Given the description of an element on the screen output the (x, y) to click on. 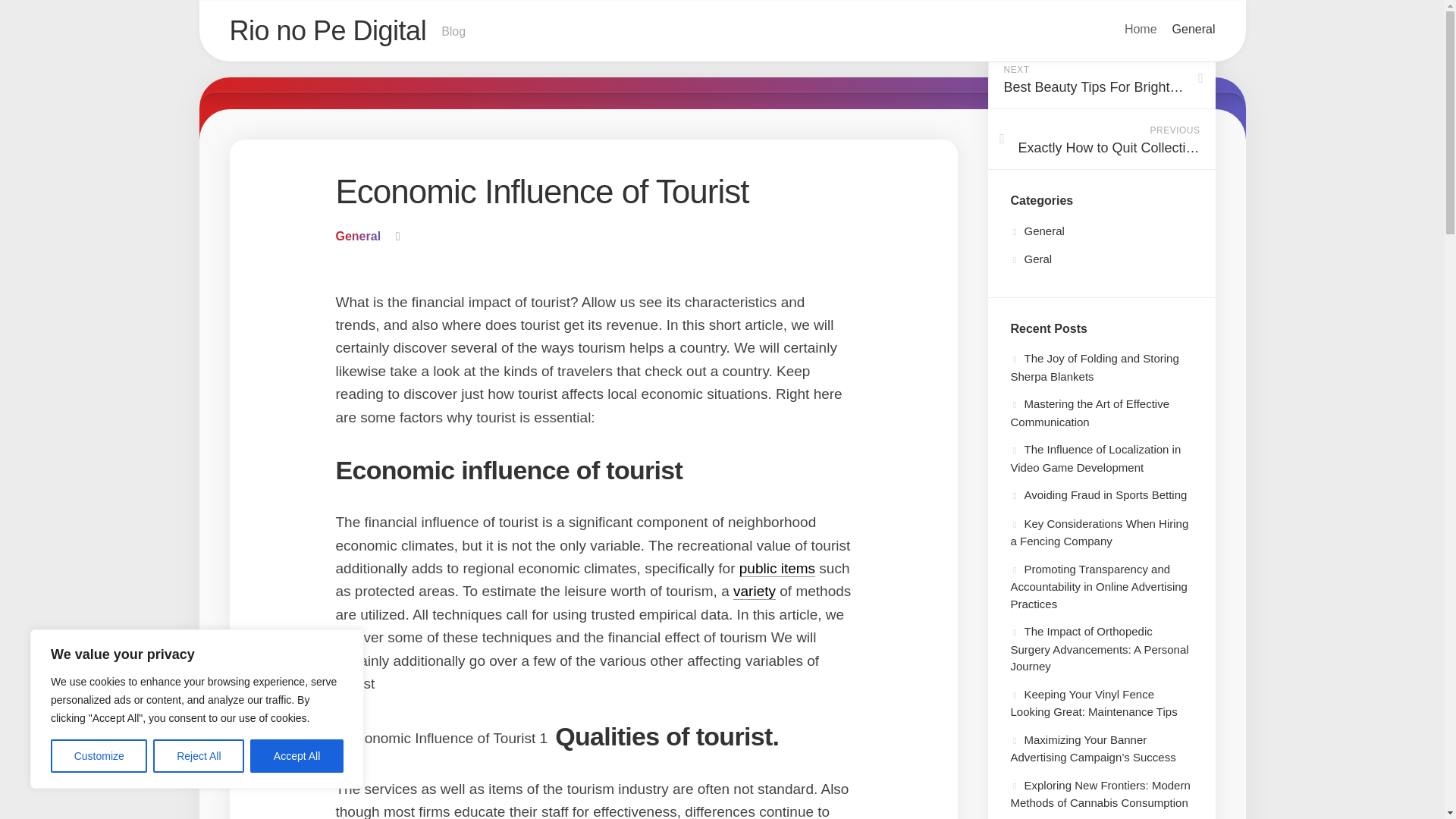
Rio no Pe Digital (327, 31)
General (1100, 138)
Geral (357, 236)
Home (1100, 78)
General (1030, 258)
variety (721, 31)
public items (1140, 29)
General (1193, 29)
Customize (754, 590)
Reject All (777, 568)
Accept All (1037, 230)
